Given the description of an element on the screen output the (x, y) to click on. 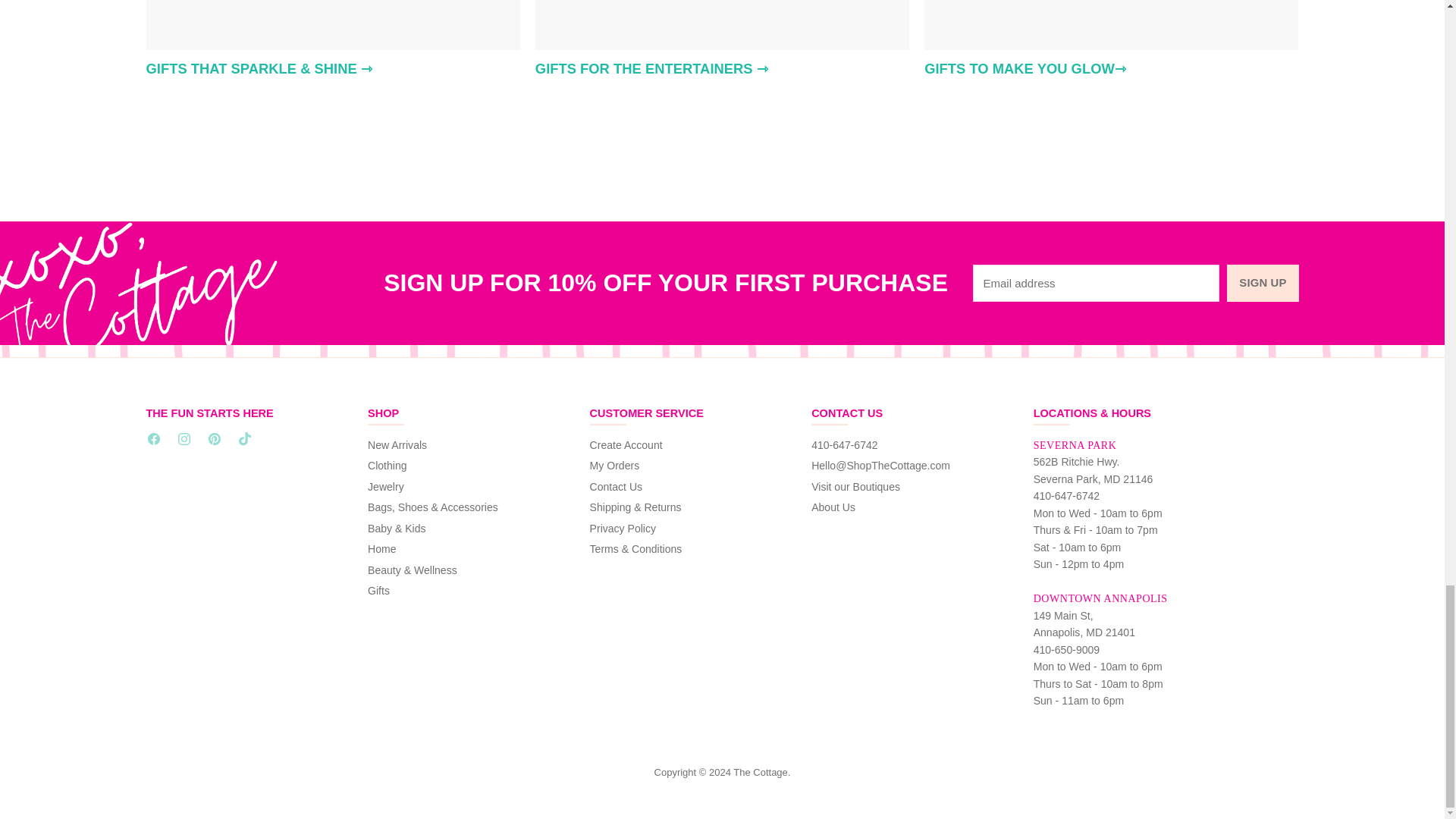
Instagram (186, 441)
Facebook (156, 441)
Pinterest (216, 441)
TikTok (246, 441)
